Given the description of an element on the screen output the (x, y) to click on. 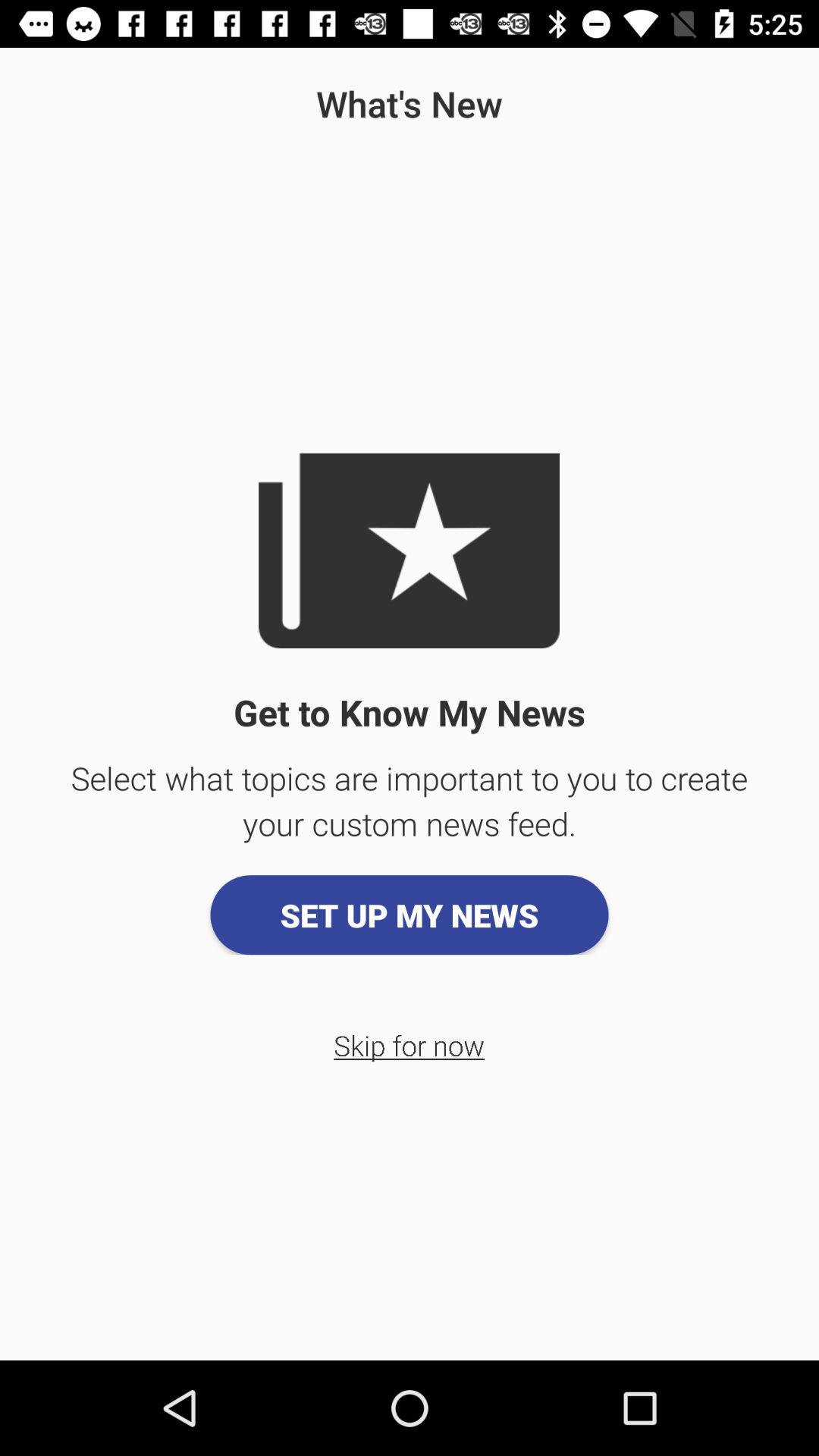
tap app above the skip for now item (409, 914)
